Given the description of an element on the screen output the (x, y) to click on. 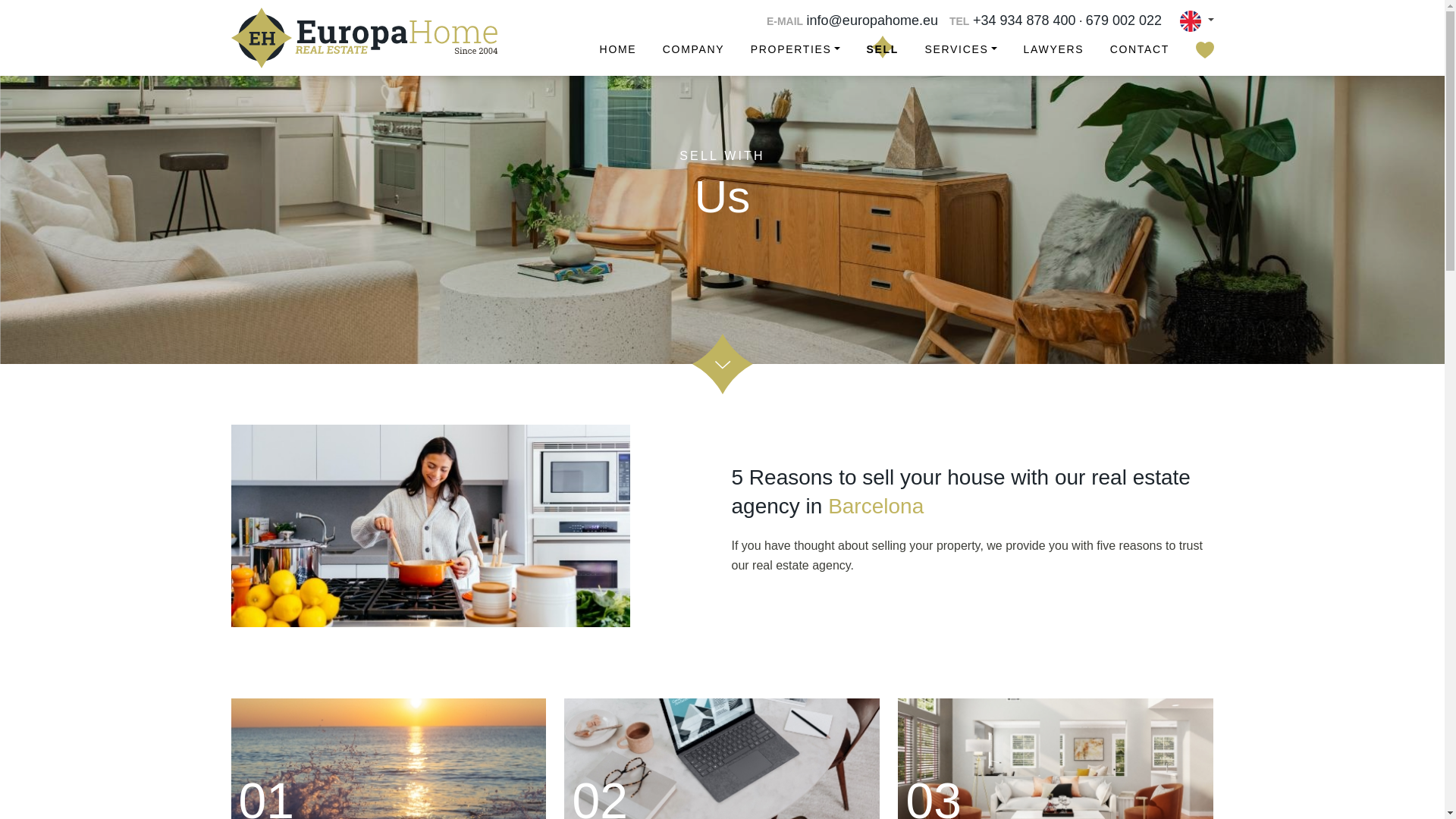
SERVICES (960, 49)
HOME (618, 49)
Europa homes (363, 37)
SELL (882, 49)
COMPANY (693, 49)
679 002 022 (1123, 20)
PROPERTIES (795, 49)
